Given the description of an element on the screen output the (x, y) to click on. 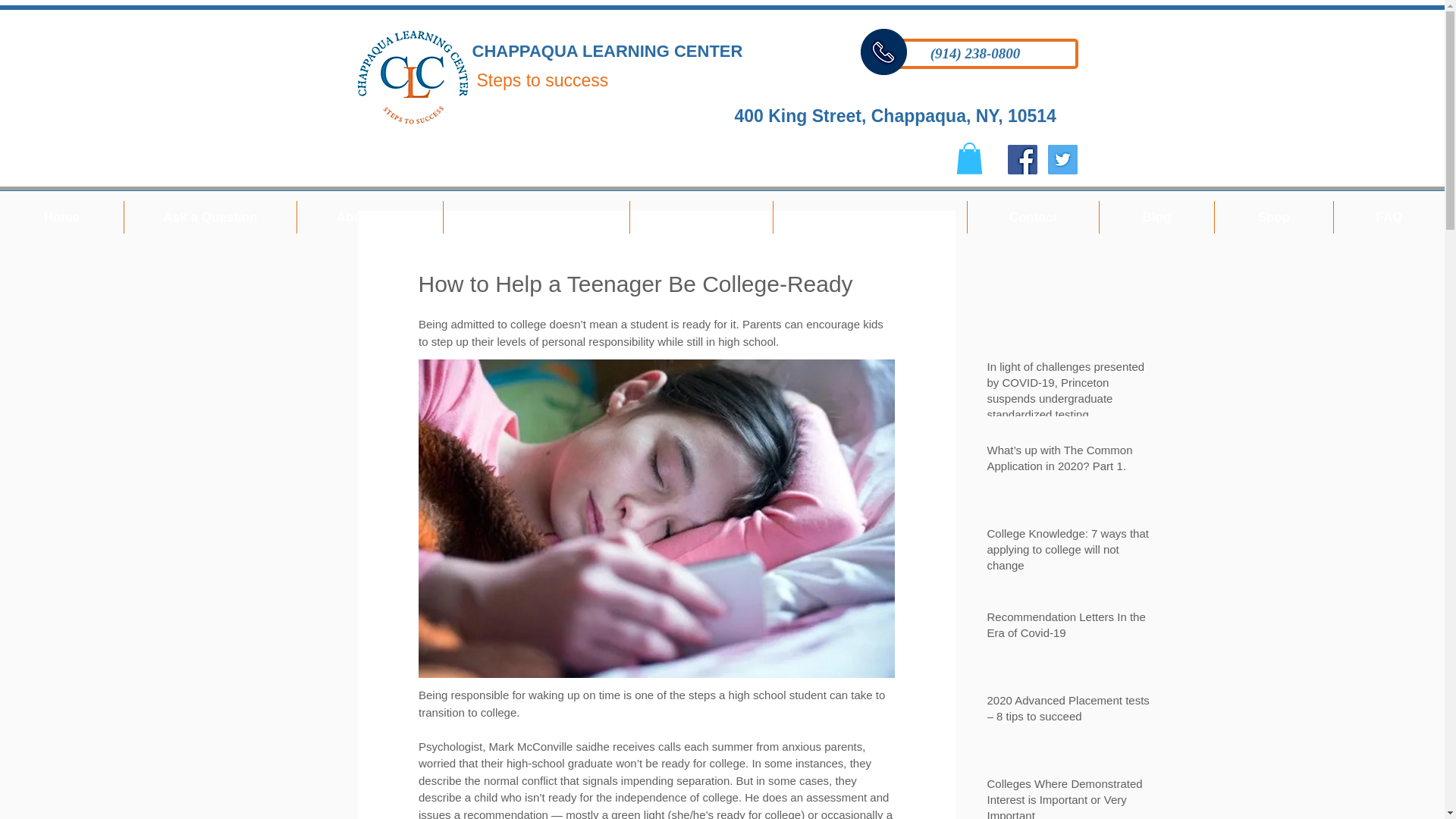
Shop (1273, 216)
Our Team (701, 216)
Home (61, 216)
Ask a Question (210, 216)
College Counseling (869, 216)
CHAPPAQUA LEARNING CENTER (606, 50)
Recommendation Letters In the Era of Covid-19 (1072, 628)
Blog (1156, 216)
About CLC (369, 216)
Contact (1033, 216)
